Given the description of an element on the screen output the (x, y) to click on. 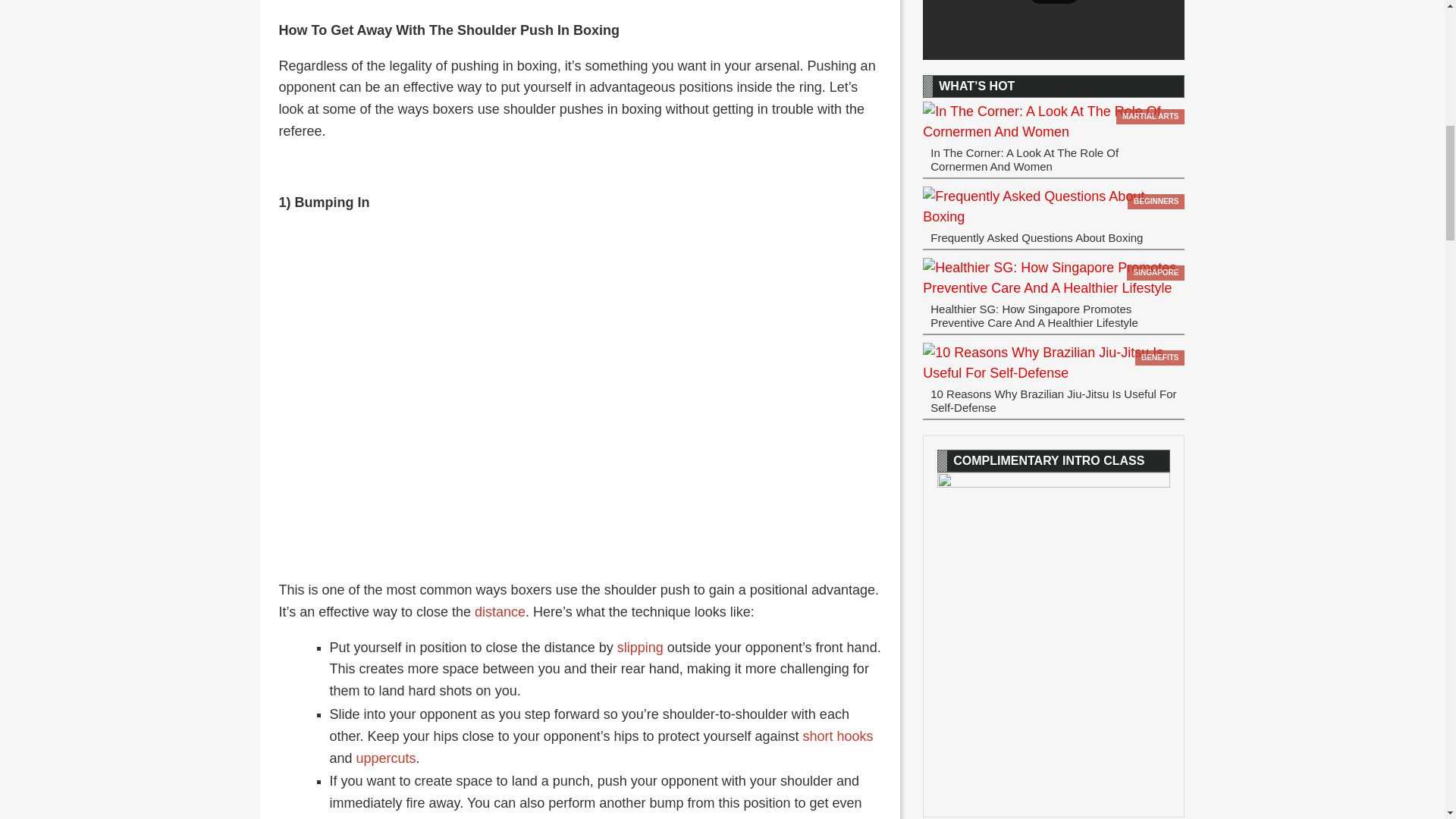
Frequently Asked Questions About Boxing (1054, 206)
In The Corner: A Look At The Role Of Cornermen And Women (1054, 121)
